Given the description of an element on the screen output the (x, y) to click on. 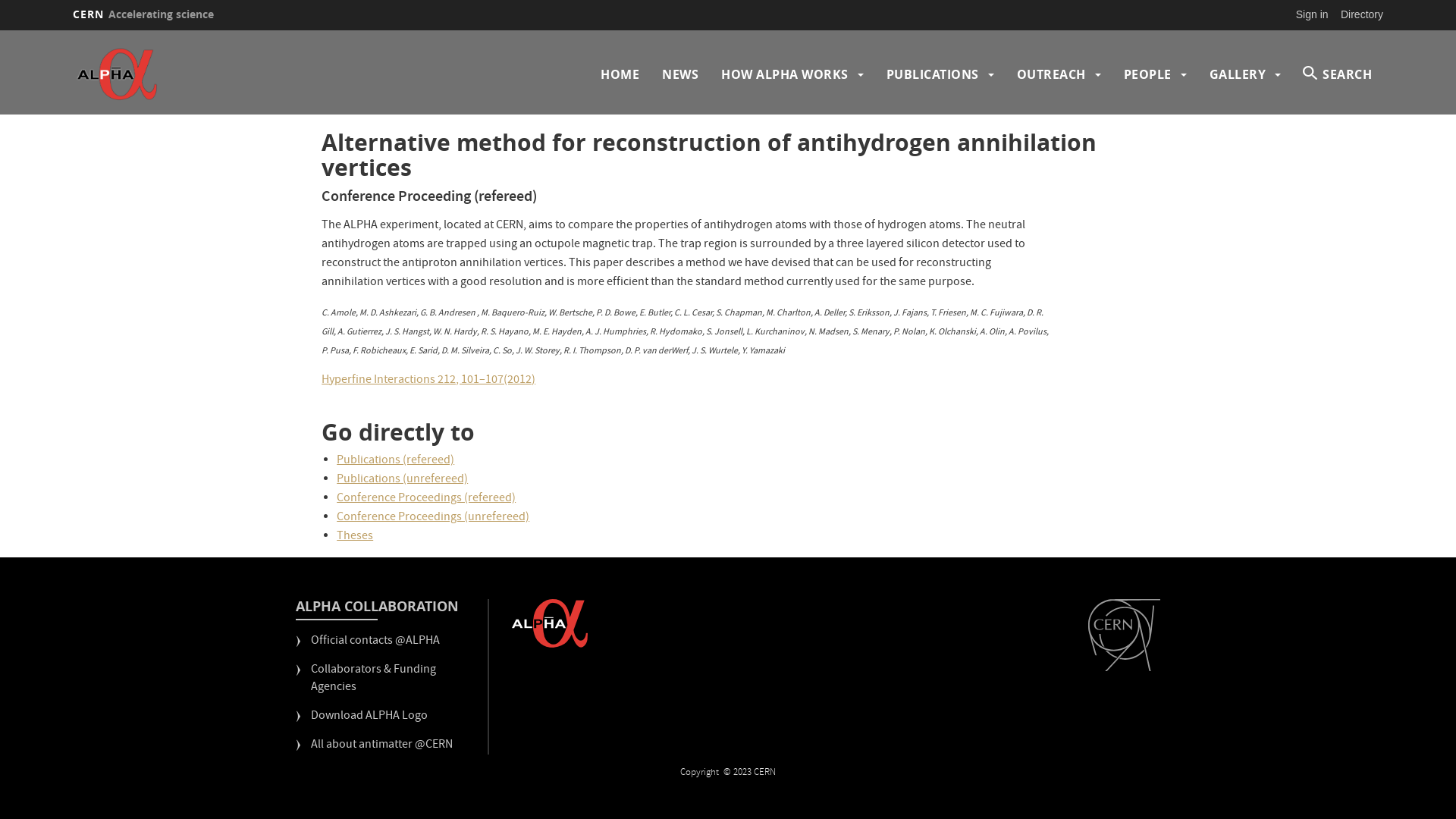
Sign in Element type: text (1311, 14)
PUBLICATIONS Element type: text (931, 74)
HOME Element type: text (619, 74)
All about antimatter @CERN Element type: text (373, 751)
HOW ALPHA WORKS Element type: text (784, 74)
CERN Accelerating science Element type: text (142, 14)
GALLERY Element type: text (1236, 74)
Home Element type: hover (232, 74)
SEARCH Element type: text (1337, 74)
NEWS Element type: text (680, 74)
Theses Element type: text (354, 536)
OUTREACH Element type: text (1050, 74)
Collaborators & Funding Agencies Element type: text (388, 685)
Directory Element type: text (1361, 14)
Download ALPHA Logo Element type: text (361, 722)
Conference Proceedings (unrefereed) Element type: text (432, 517)
Official contacts @ALPHA Element type: text (367, 647)
CERN Element type: hover (1124, 634)
Publications (refereed) Element type: text (395, 460)
Copyright Element type: text (700, 772)
Skip to main content Element type: text (0, 30)
PEOPLE Element type: text (1147, 74)
Publications (unrefereed) Element type: text (401, 479)
Conference Proceedings (refereed) Element type: text (425, 498)
